Given the description of an element on the screen output the (x, y) to click on. 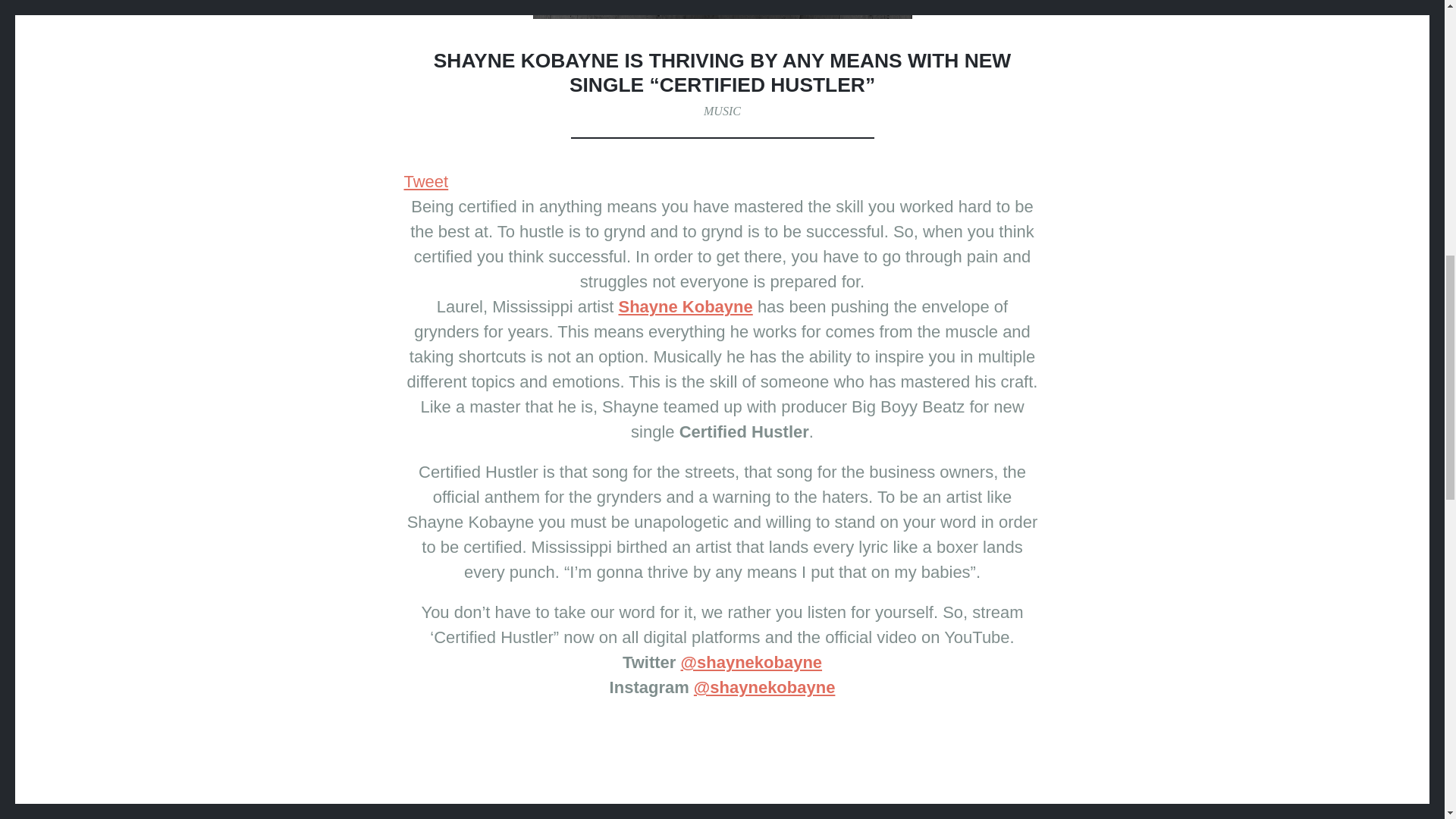
YouTube video player (721, 766)
Tweet (425, 180)
MUSIC (722, 110)
Shayne Kobayne (684, 306)
